Given the description of an element on the screen output the (x, y) to click on. 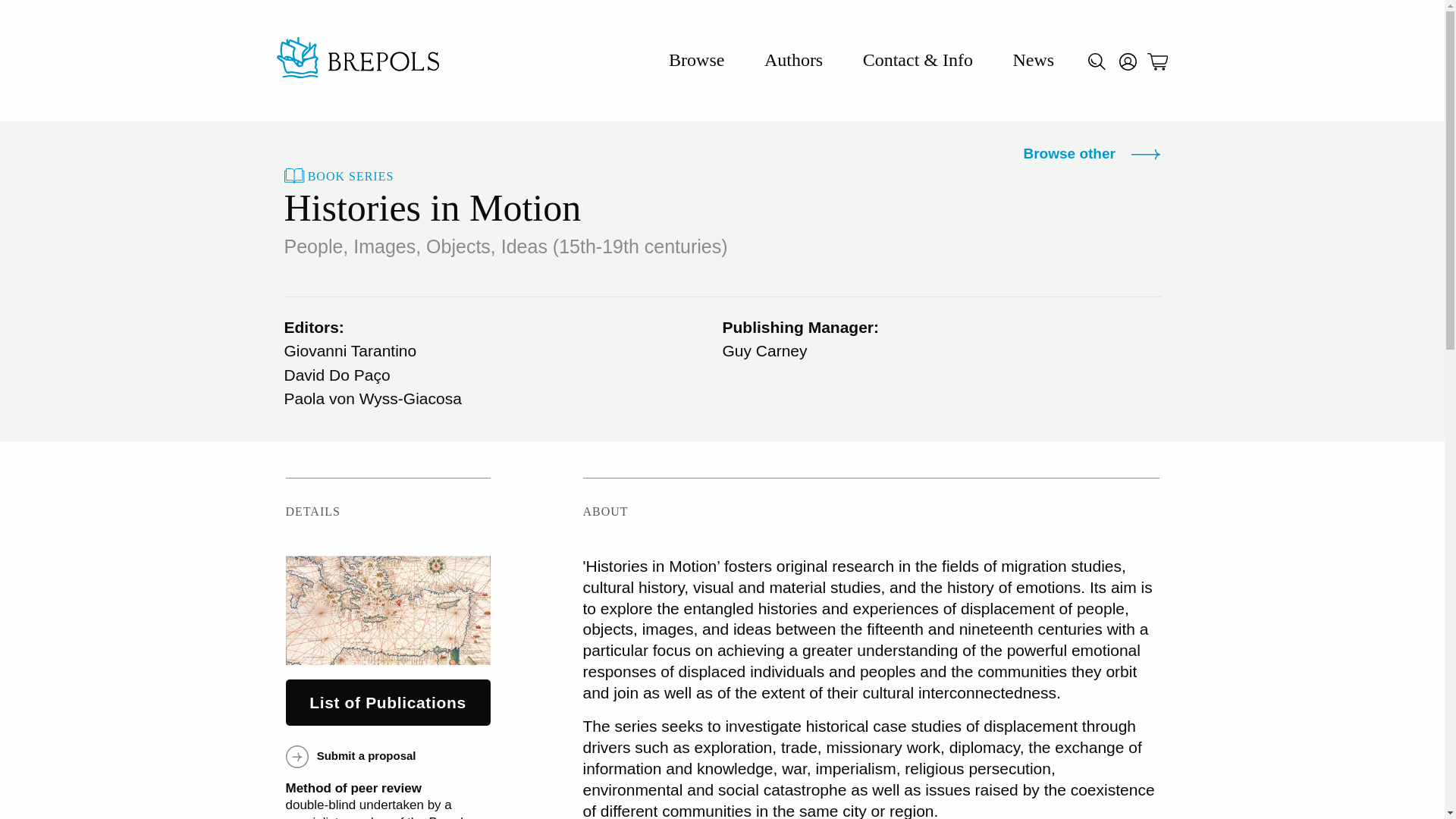
Submit a proposal (349, 755)
Browse (695, 59)
Authors (793, 59)
News (1032, 59)
Authors (793, 59)
Guy Carney (764, 350)
Browse (695, 59)
Brepols Publishers (357, 59)
Contact (917, 59)
List of Publications (387, 702)
